Given the description of an element on the screen output the (x, y) to click on. 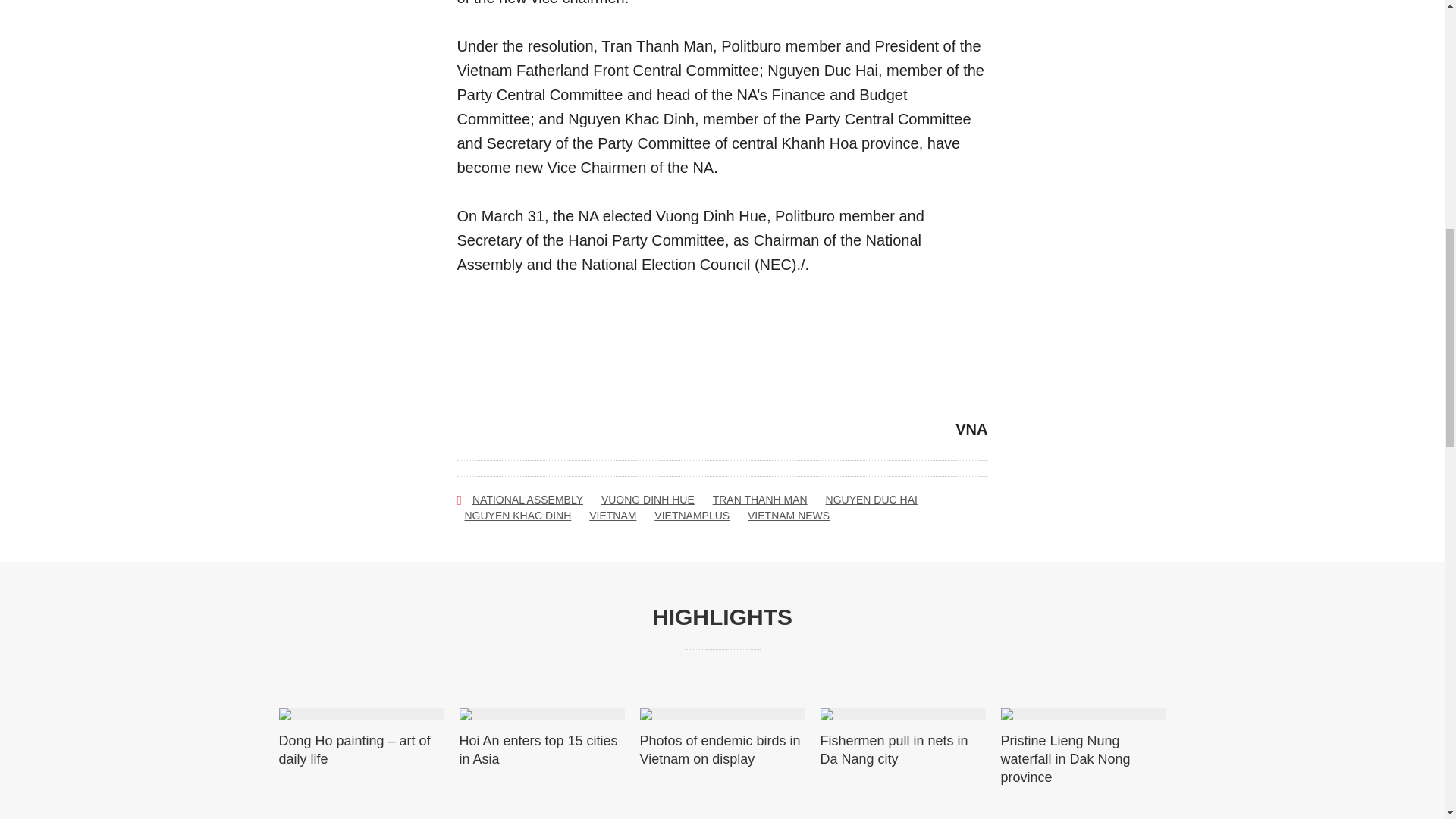
Photos of endemic birds in Vietnam on display (722, 750)
VIETNAMPLUS (691, 515)
 Nguyen Khac Dinh (517, 515)
 Tran Thanh Man (760, 499)
 Vietnam news (788, 515)
 Nguyen Duc Hai (871, 499)
National Assembly (527, 499)
NGUYEN KHAC DINH (517, 515)
 Vuong Dinh Hue (647, 499)
TRAN THANH MAN (760, 499)
